Given the description of an element on the screen output the (x, y) to click on. 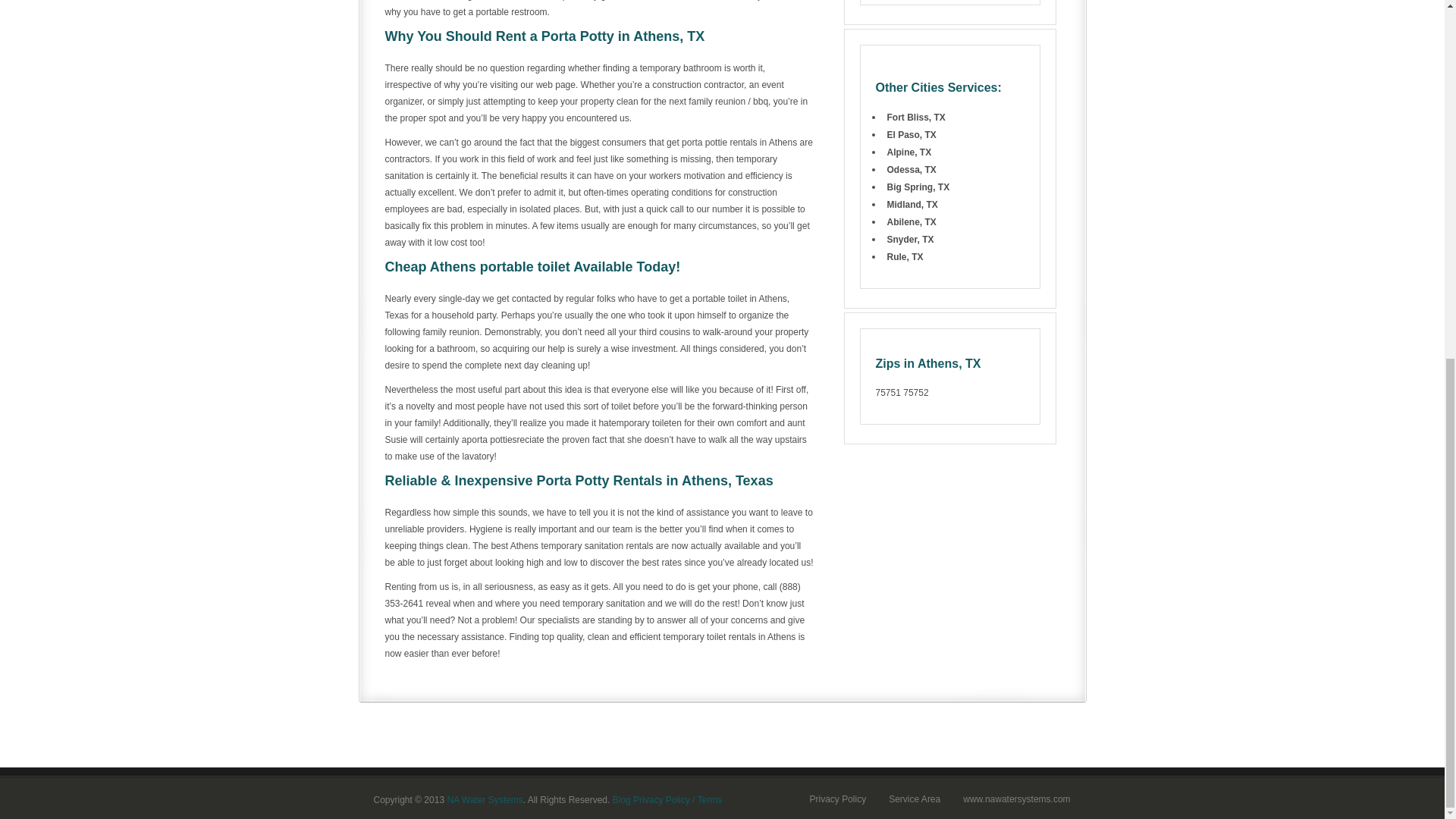
Rule, TX (904, 256)
www.nawatersystems.com (1016, 799)
NA Water Systems (484, 799)
Blog (621, 799)
Snyder, TX (910, 239)
Big Spring, TX (918, 186)
Alpine, TX (908, 152)
Portable Toilets in Snyder, TX (910, 239)
Fort Bliss, TX (915, 117)
Portable Toilets in Fort Bliss, TX (915, 117)
Service Area (914, 799)
Portable Toilets in Big Spring, TX (918, 186)
Odessa, TX (911, 169)
El Paso, TX (911, 134)
Portable Toilets in El Paso, TX (911, 134)
